Given the description of an element on the screen output the (x, y) to click on. 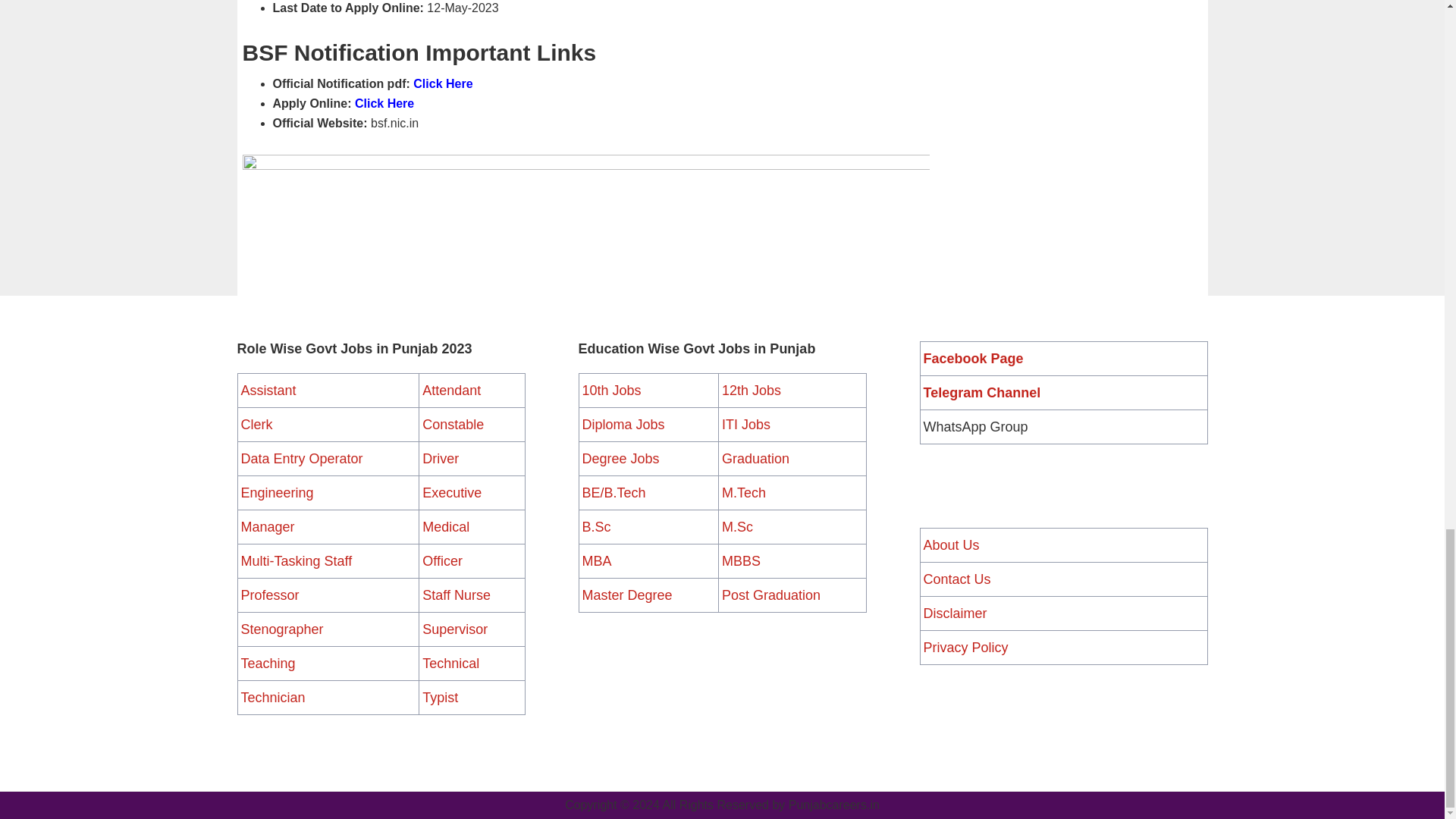
Click Here (442, 83)
Click Here (384, 103)
